Given the description of an element on the screen output the (x, y) to click on. 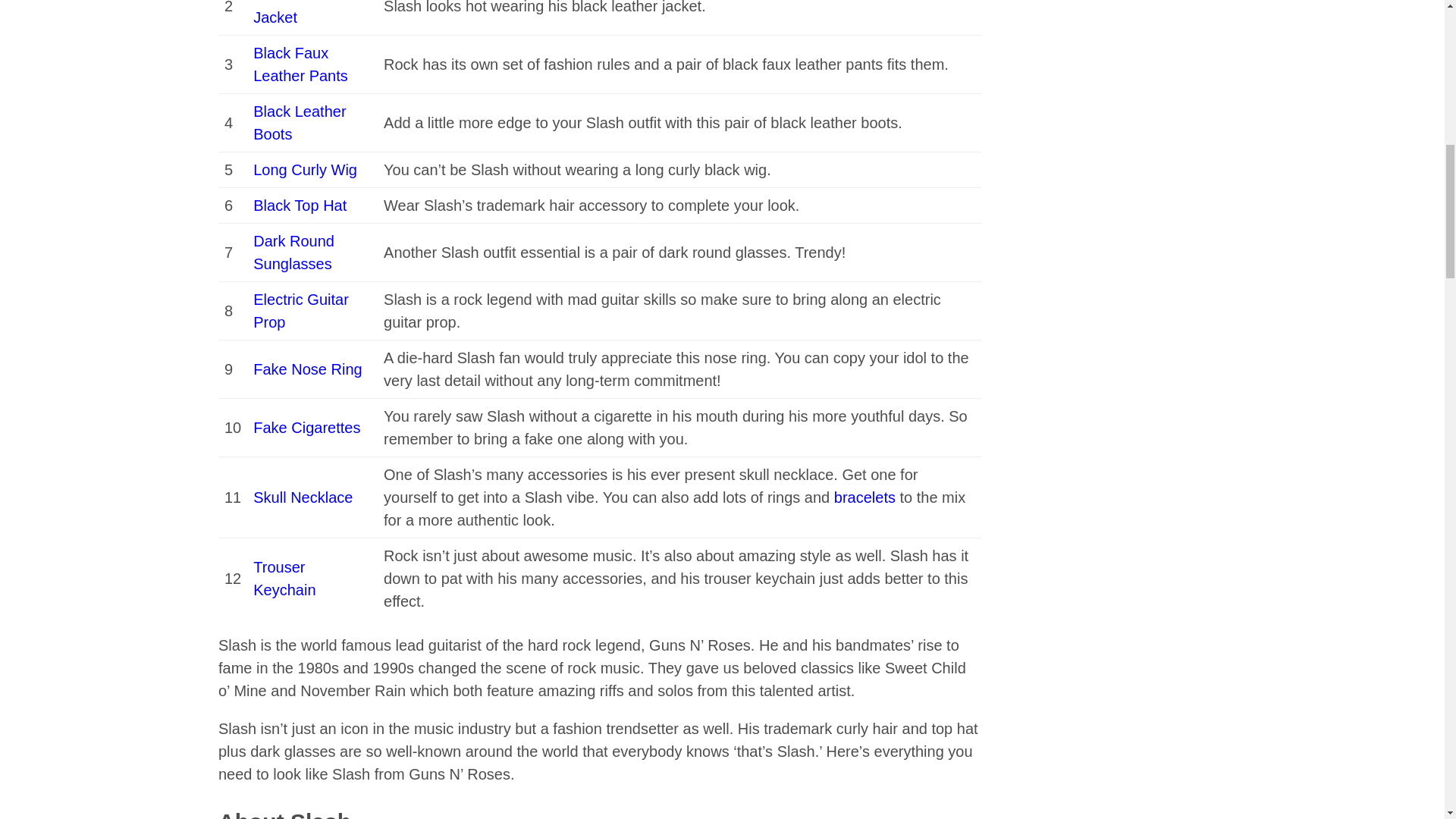
Fake Cigarettes (306, 427)
Trouser Keychain (284, 578)
Fake Nose Ring (307, 369)
Dark Round Sunglasses (293, 251)
Black Leather Boots (299, 122)
Long Curly Wig (304, 169)
Black Faux Leather Pants (300, 64)
Electric Guitar Prop (301, 310)
bracelets (864, 497)
Black Top Hat (299, 205)
Black Leather Jacket (299, 12)
Skull Necklace (302, 497)
